Given the description of an element on the screen output the (x, y) to click on. 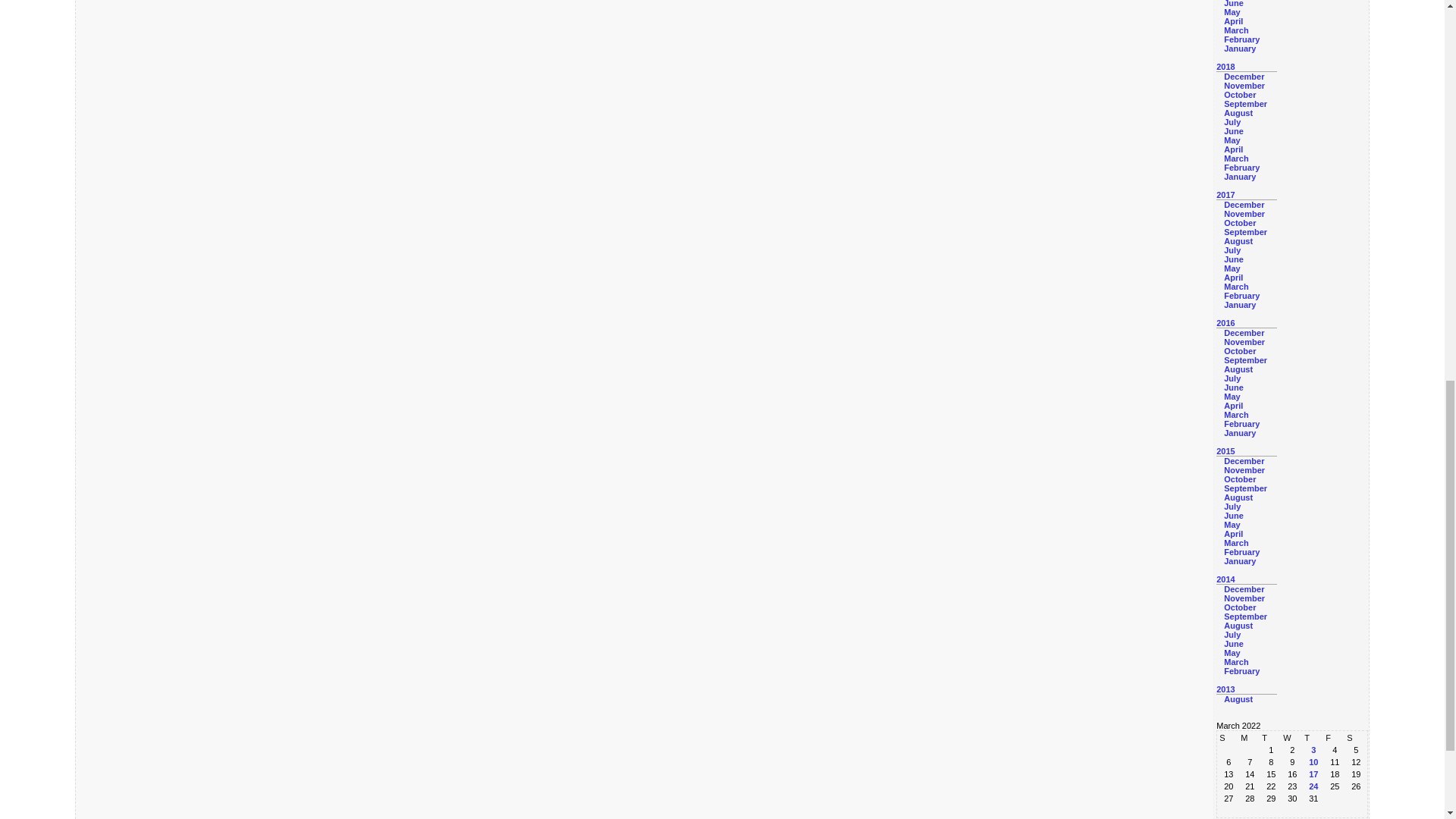
Wednesday (1291, 737)
Monday (1249, 737)
Saturday (1355, 737)
Thursday (1313, 737)
Friday (1333, 737)
Sunday (1228, 737)
Tuesday (1270, 737)
